Given the description of an element on the screen output the (x, y) to click on. 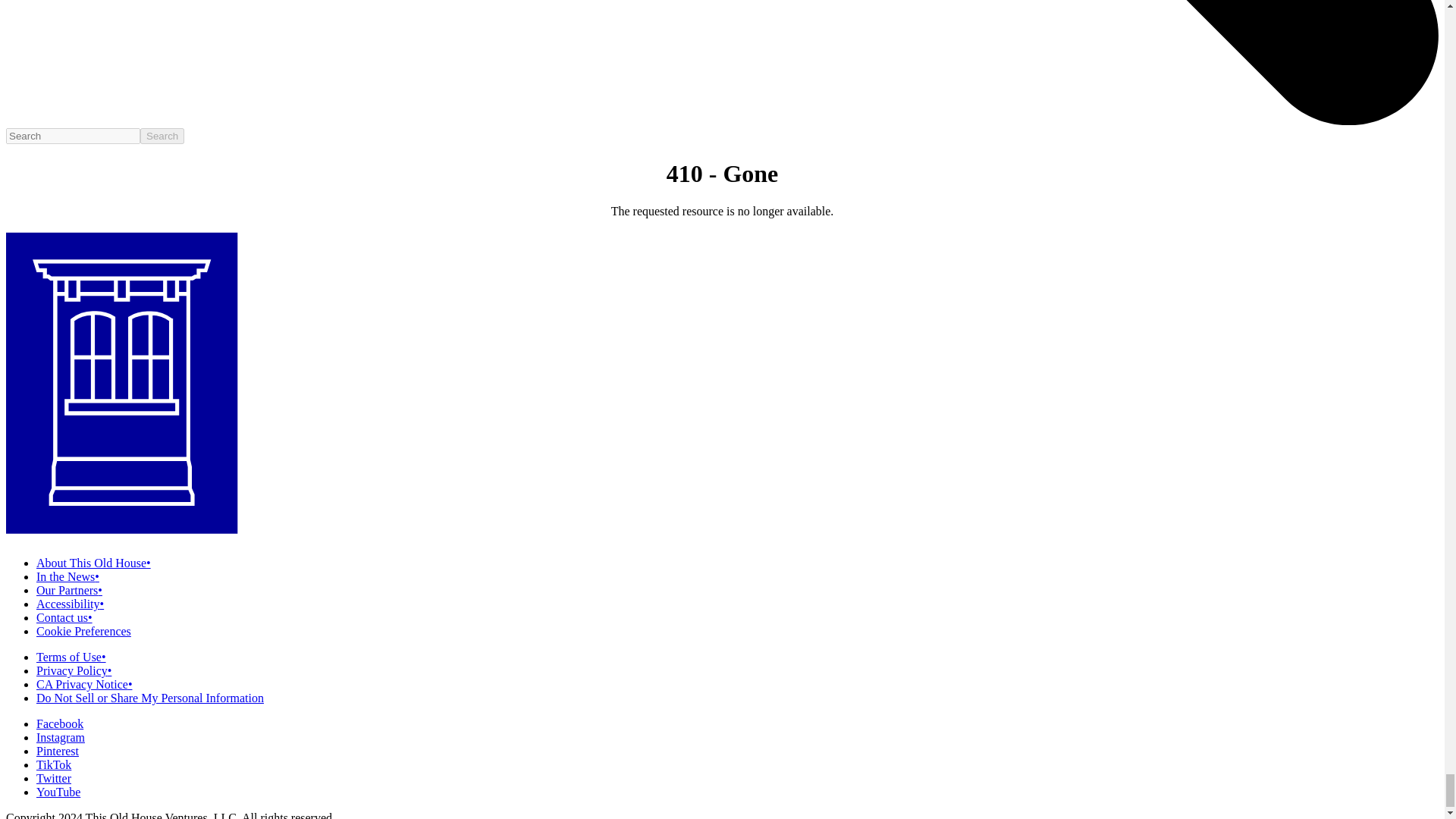
Search (161, 135)
